Given the description of an element on the screen output the (x, y) to click on. 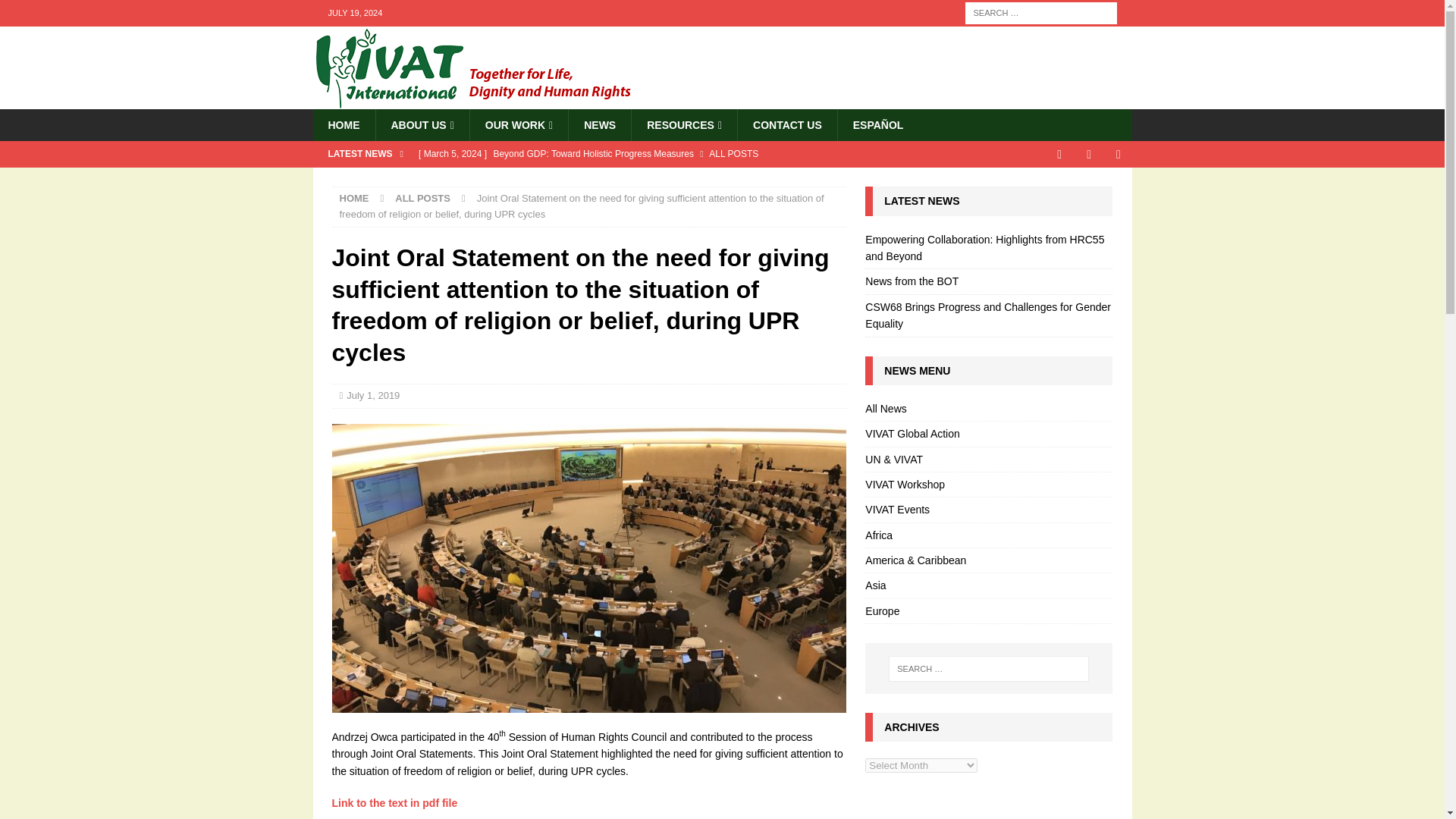
Just Transition as a Driver of Inclusive Action (627, 179)
VIVAT International (490, 101)
Beyond GDP: Toward Holistic Progress Measures (627, 153)
Search (56, 11)
